Given the description of an element on the screen output the (x, y) to click on. 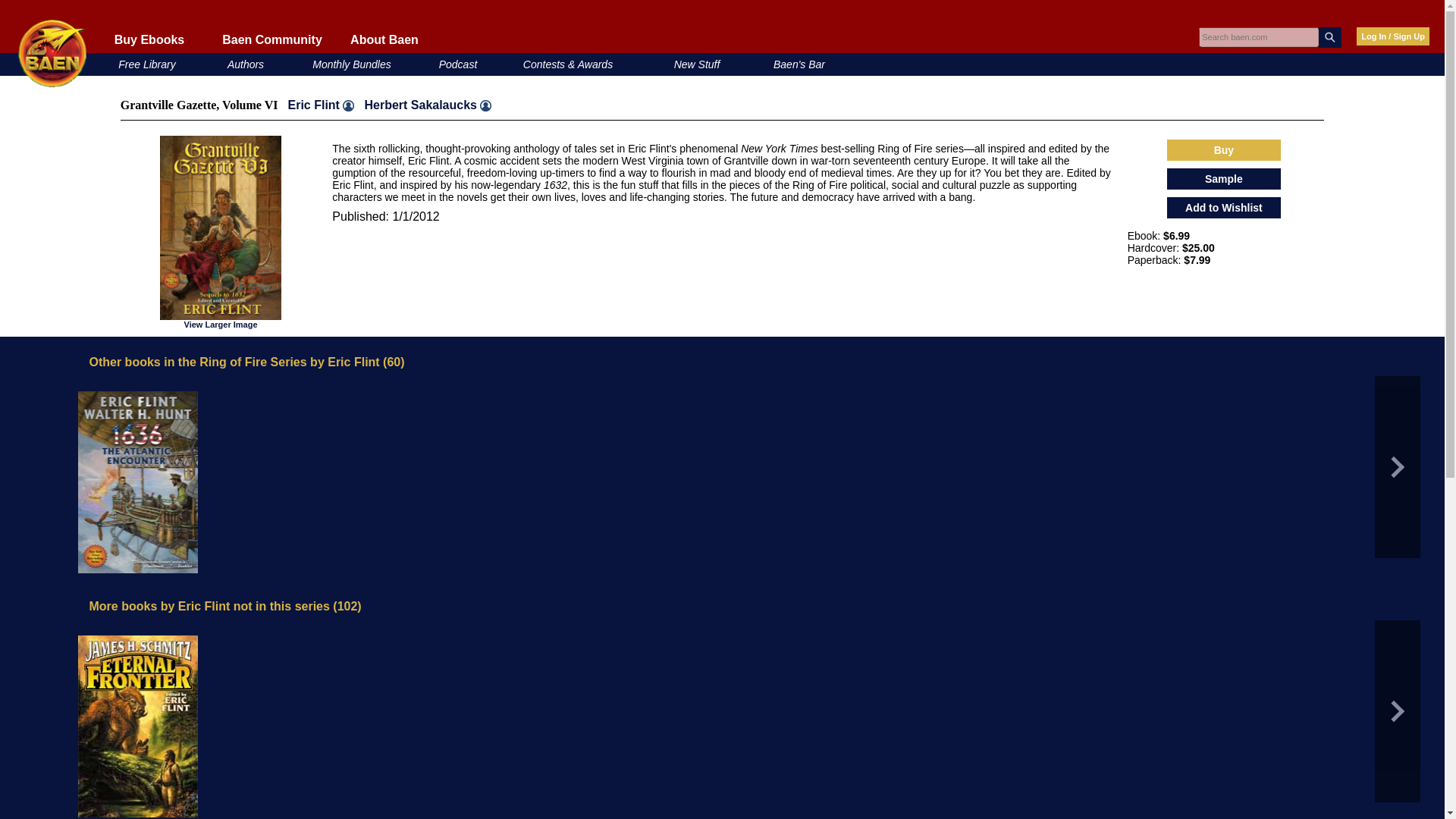
Baen's Bar (799, 64)
Free Library (145, 64)
Baen Community (272, 40)
Monthly Bundles (352, 64)
Authors (245, 64)
Buy Ebooks (149, 40)
About Baen (384, 40)
Podcast (458, 64)
New Stuff (697, 64)
